Given the description of an element on the screen output the (x, y) to click on. 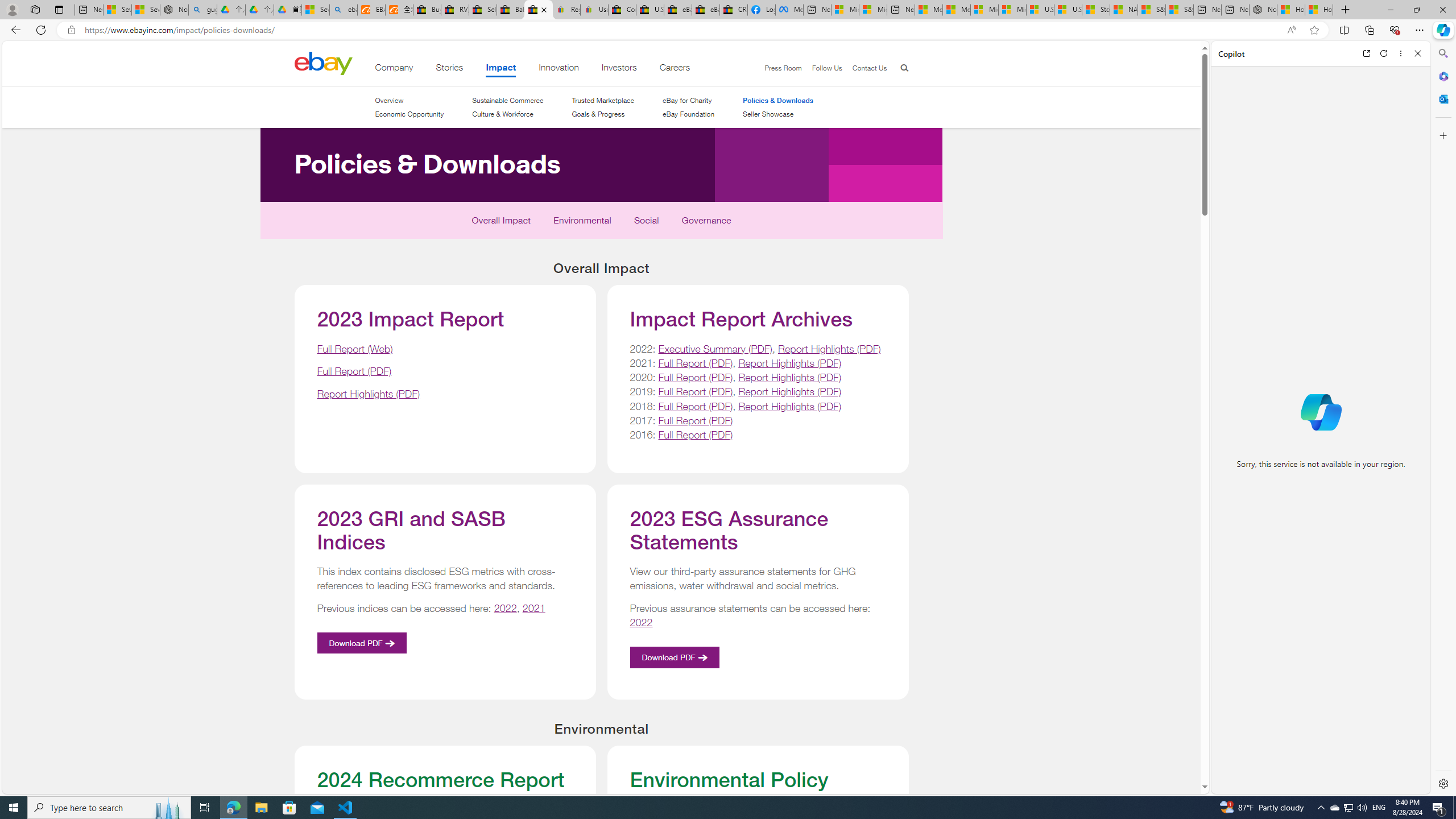
Economic Opportunity (409, 113)
2022 (640, 622)
Economic Opportunity (409, 113)
Class: desktop (323, 63)
Full Report (Web) (355, 348)
Open link in new tab (1366, 53)
Register: Create a personal eBay account (566, 9)
Goals & Progress (598, 113)
Careers (674, 69)
